Given the description of an element on the screen output the (x, y) to click on. 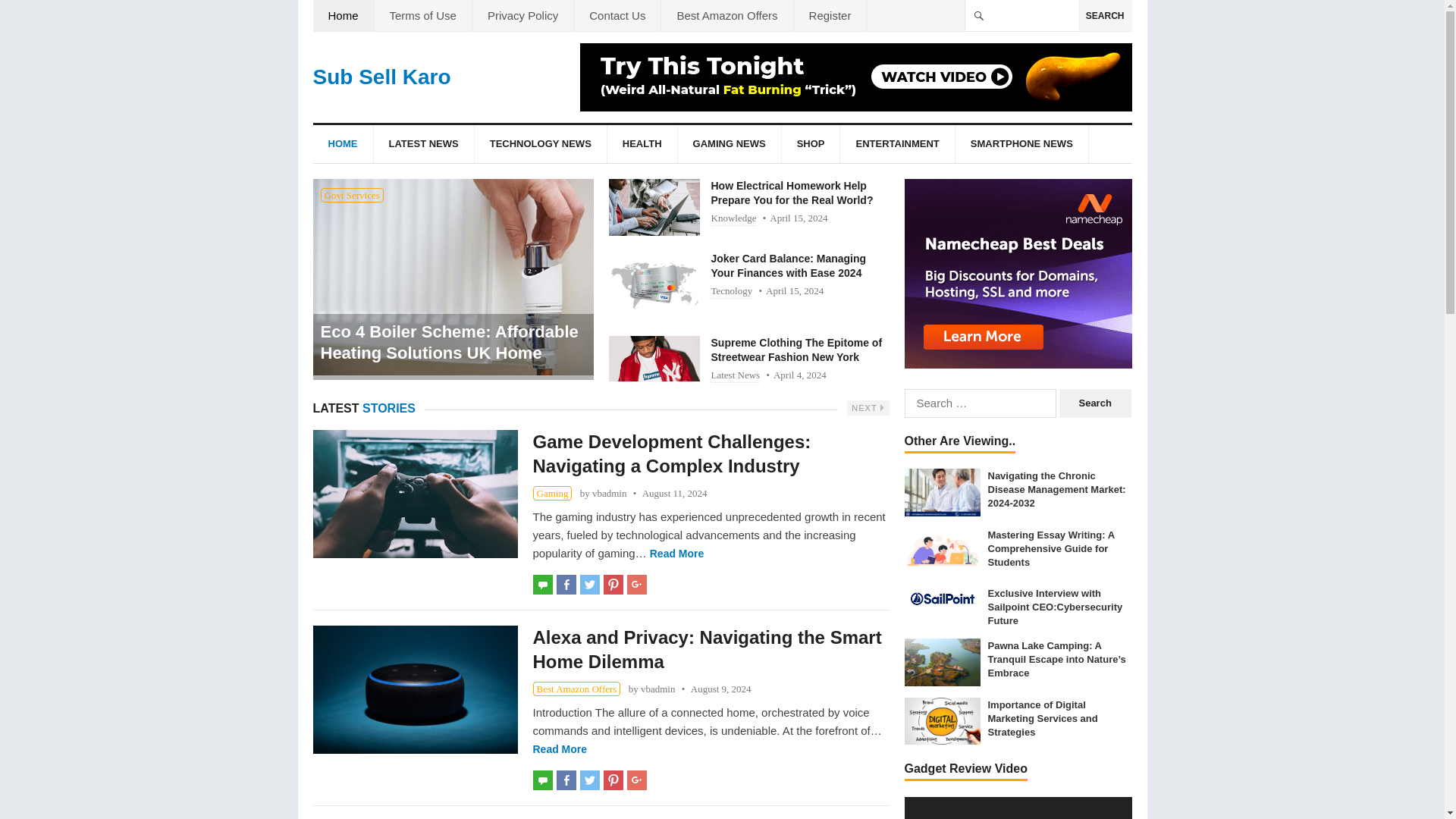
Share on Pinterest (613, 584)
TECHNOLOGY NEWS (540, 143)
Search (1095, 403)
Eco 4 Boiler Scheme: Affordable Heating Solutions UK Home (452, 342)
View all posts in Gaming (552, 493)
Knowledge (734, 219)
HOME (342, 143)
Best Amazon Offers (726, 15)
Joker Card Balance: Managing Your Finances with Ease 2024 (653, 285)
Eco 4 Boiler Scheme: Affordable Heating Solutions UK Home (452, 277)
